Given the description of an element on the screen output the (x, y) to click on. 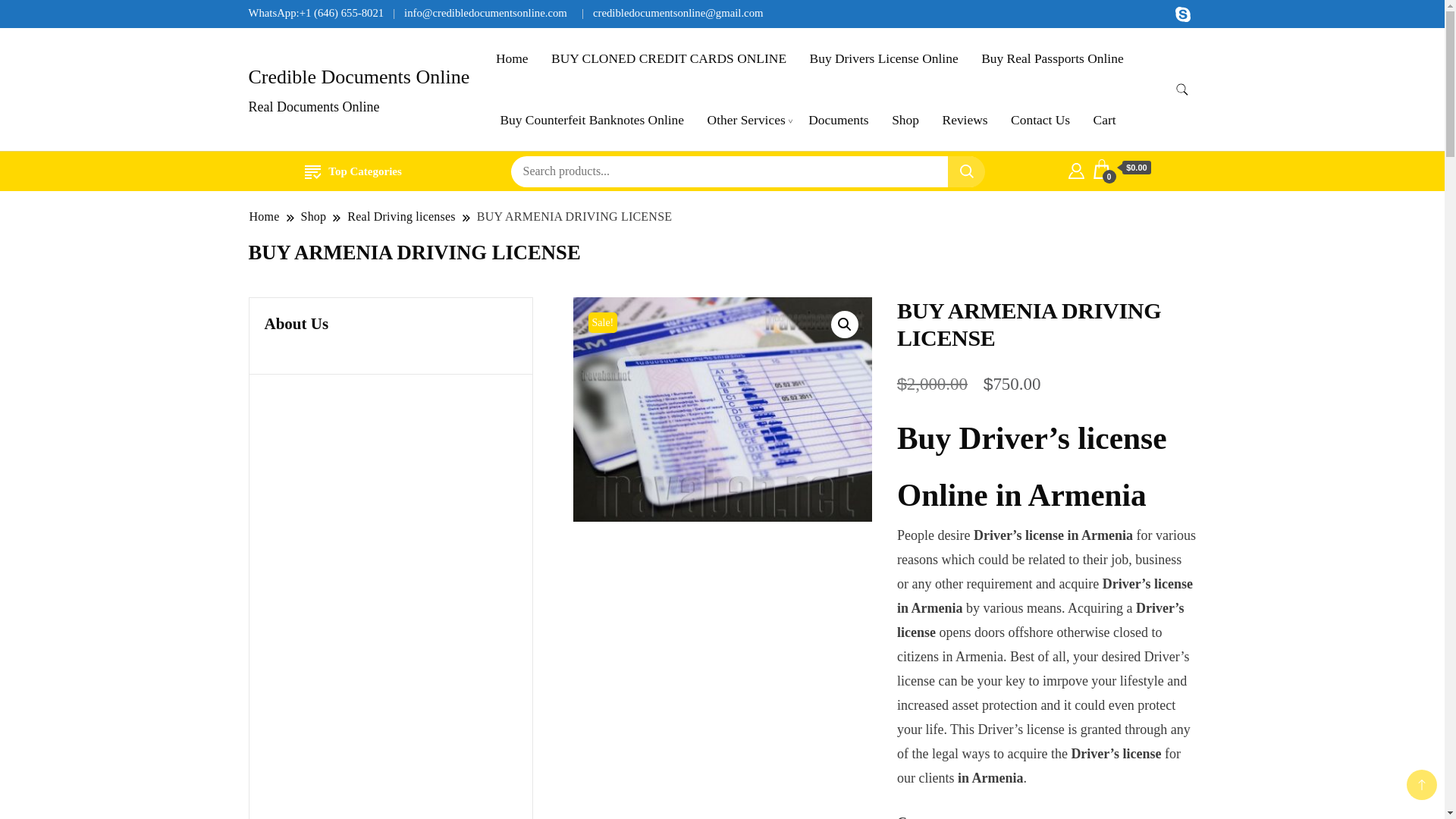
My Account (1076, 168)
Cart (1121, 168)
Buy Counterfeit Banknotes Online (591, 119)
BUY CLONED CREDIT CARDS ONLINE (668, 58)
Other Services (745, 119)
Reviews (965, 119)
Contact Us (1040, 119)
Credible Documents Online (359, 76)
Buy Drivers License Online (883, 58)
BUY ARMENIA DRIVING LICENSE (722, 409)
Buy Real Passports Online (1051, 58)
Documents (837, 119)
